Given the description of an element on the screen output the (x, y) to click on. 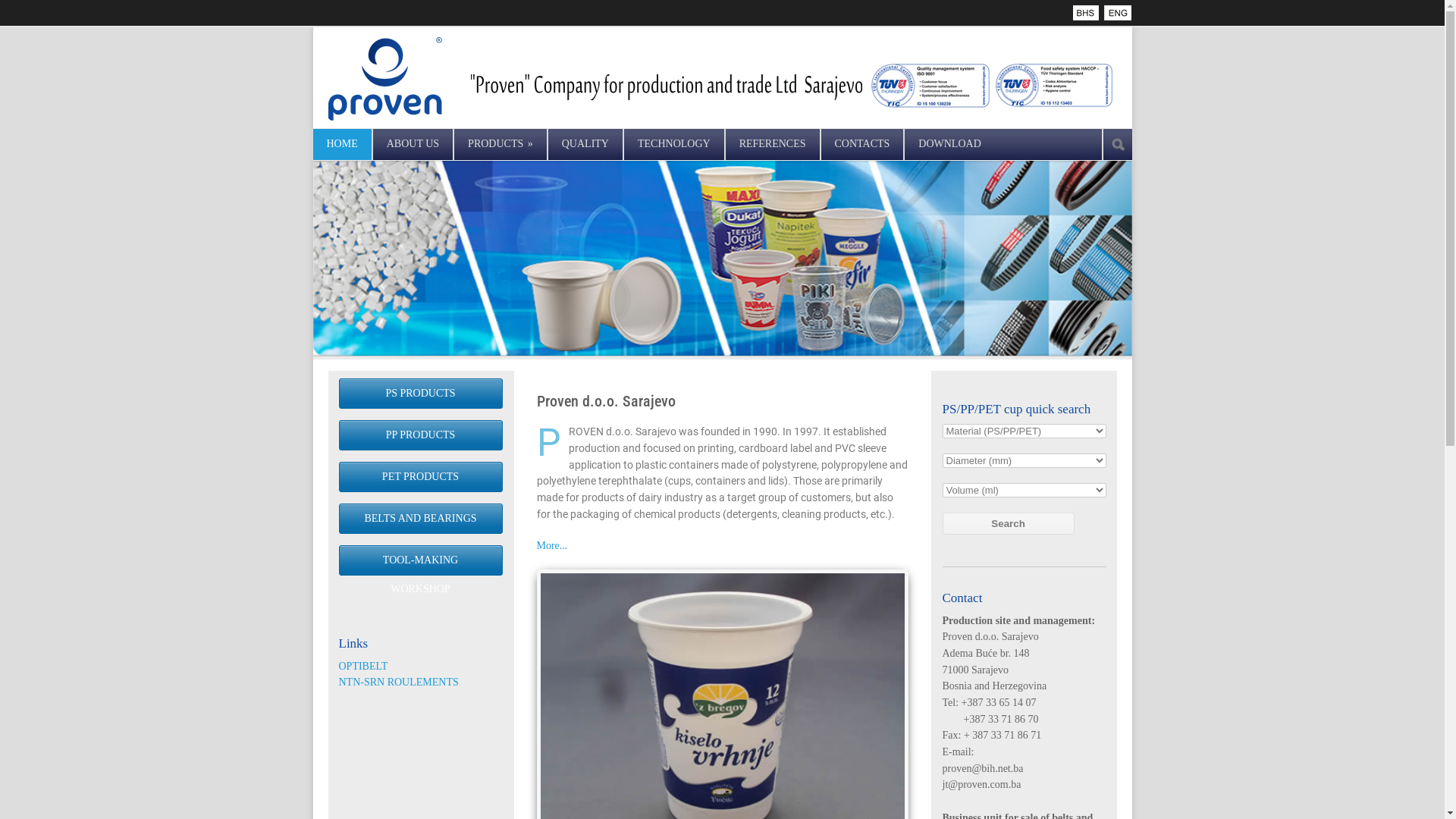
Proven Ltd Sarajevo Element type: hover (1117, 12)
PP PRODUCTS Element type: text (420, 435)
REFERENCES Element type: text (772, 144)
CONTACTS Element type: text (862, 144)
Proven Sarajevo Element type: hover (1087, 12)
PS PRODUCTS Element type: text (420, 393)
TOOL-MAKING WORKSHOP Element type: text (420, 560)
QUALITY Element type: text (585, 144)
NTN-SRN ROULEMENTS Element type: text (398, 681)
TECHNOLOGY Element type: text (673, 144)
DOWNLOAD Element type: text (948, 144)
HOME Element type: text (341, 144)
PET PRODUCTS Element type: text (420, 476)
OPTIBELT Element type: text (362, 665)
ABOUT US Element type: text (412, 144)
BELTS AND BEARINGS Element type: text (420, 518)
More... Element type: text (551, 545)
